Given the description of an element on the screen output the (x, y) to click on. 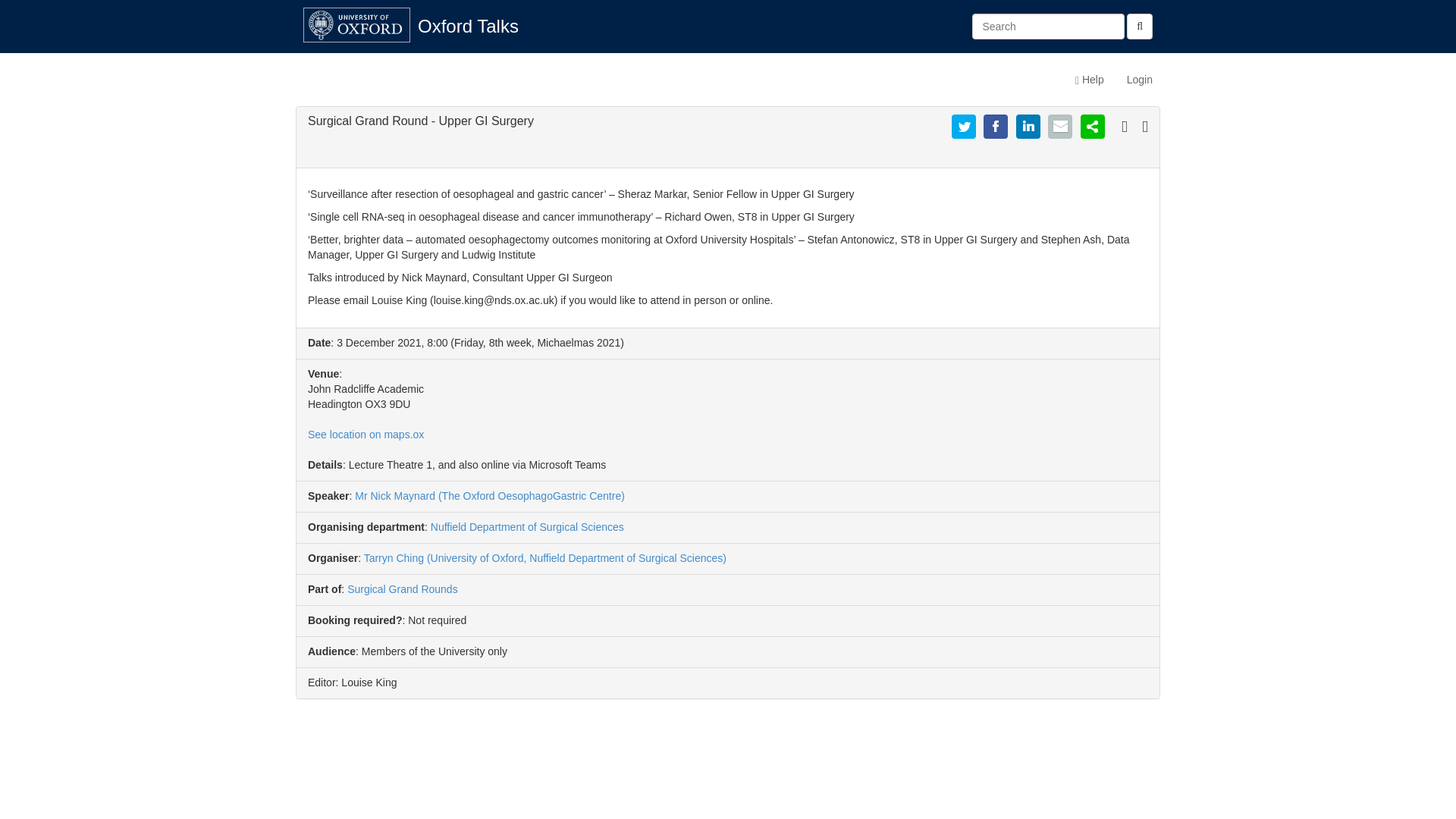
See location on maps.ox (365, 434)
Nuffield Department of Surgical Sciences (527, 526)
Help (1089, 79)
Login (1139, 79)
Oxford Talks (467, 26)
Surgical Grand Rounds (402, 589)
